Given the description of an element on the screen output the (x, y) to click on. 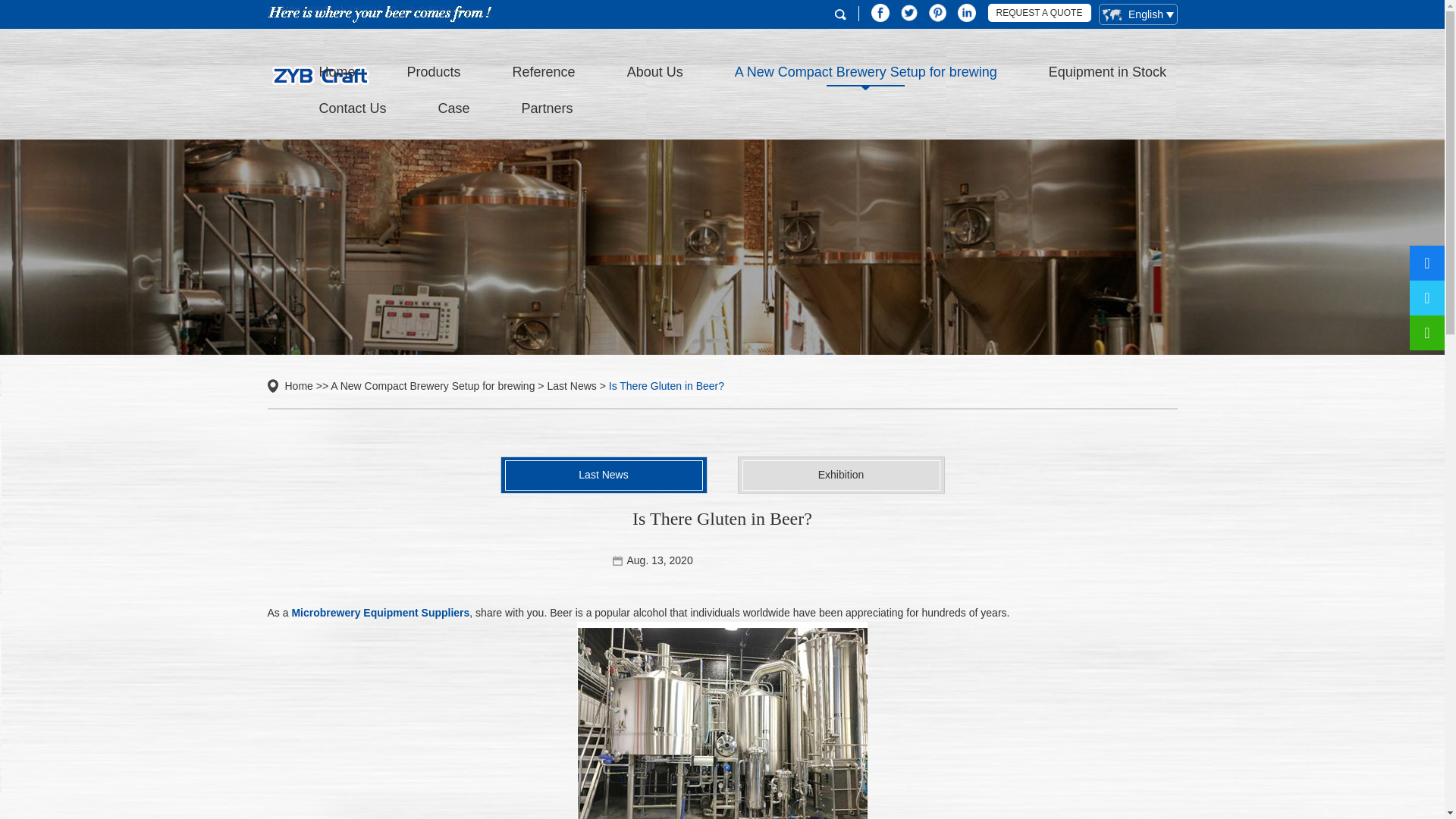
English (1136, 14)
Home (336, 72)
Yucheng Zeyu Machinery Co., Ltd. (319, 89)
Yucheng Zeyu Machinery Co., Ltd. (378, 13)
Products (434, 72)
REQUEST A QUOTE (1038, 13)
Products (434, 72)
